Given the description of an element on the screen output the (x, y) to click on. 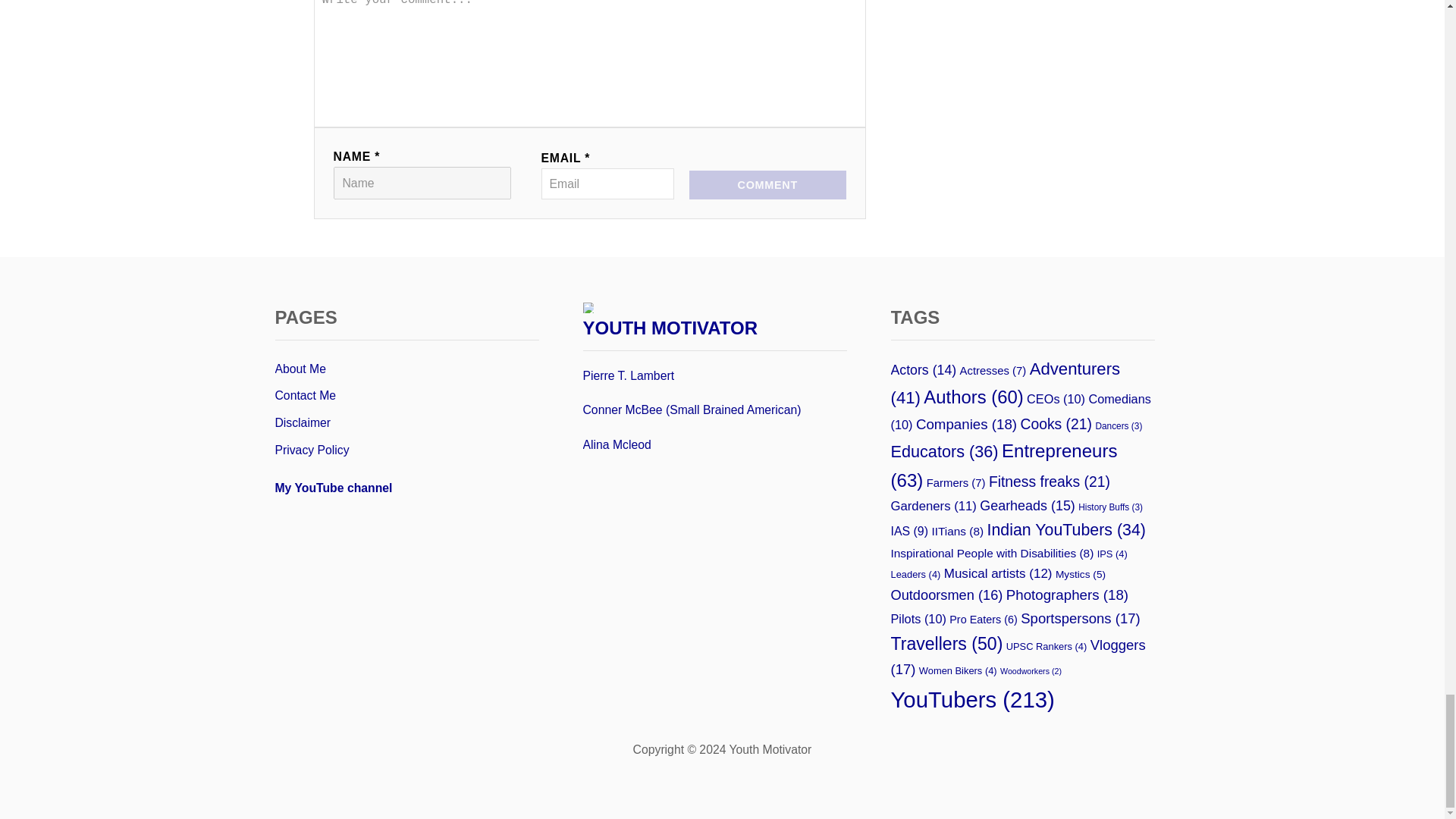
Privacy Policy (406, 450)
Disclaimer (406, 422)
About Me (406, 369)
COMMENT (766, 184)
Contact Me (406, 395)
My YouTube channel (333, 487)
